Given the description of an element on the screen output the (x, y) to click on. 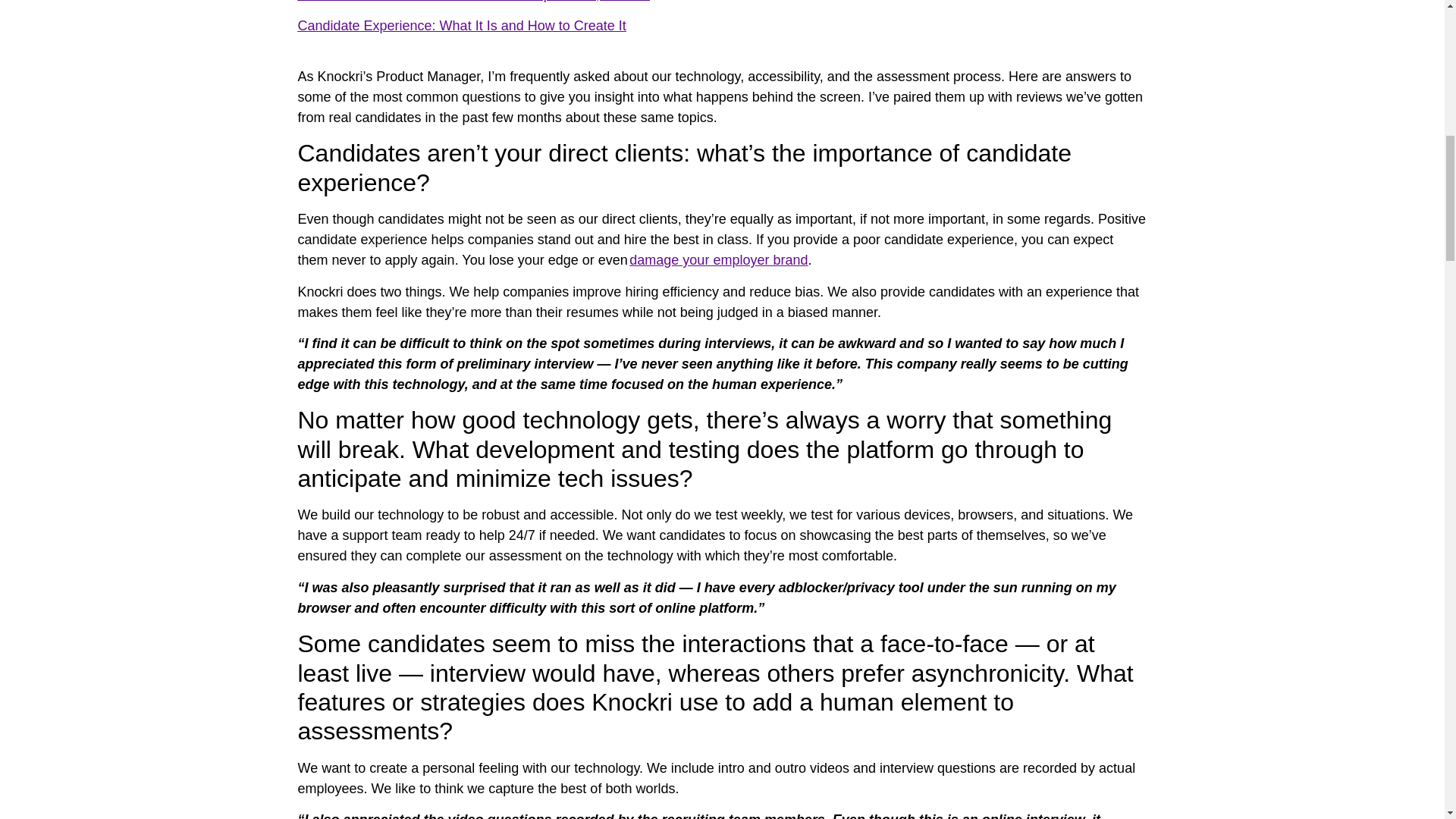
Candidate Experience: What It Is and How to Create It (461, 25)
damage your employer brand (718, 259)
